Given the description of an element on the screen output the (x, y) to click on. 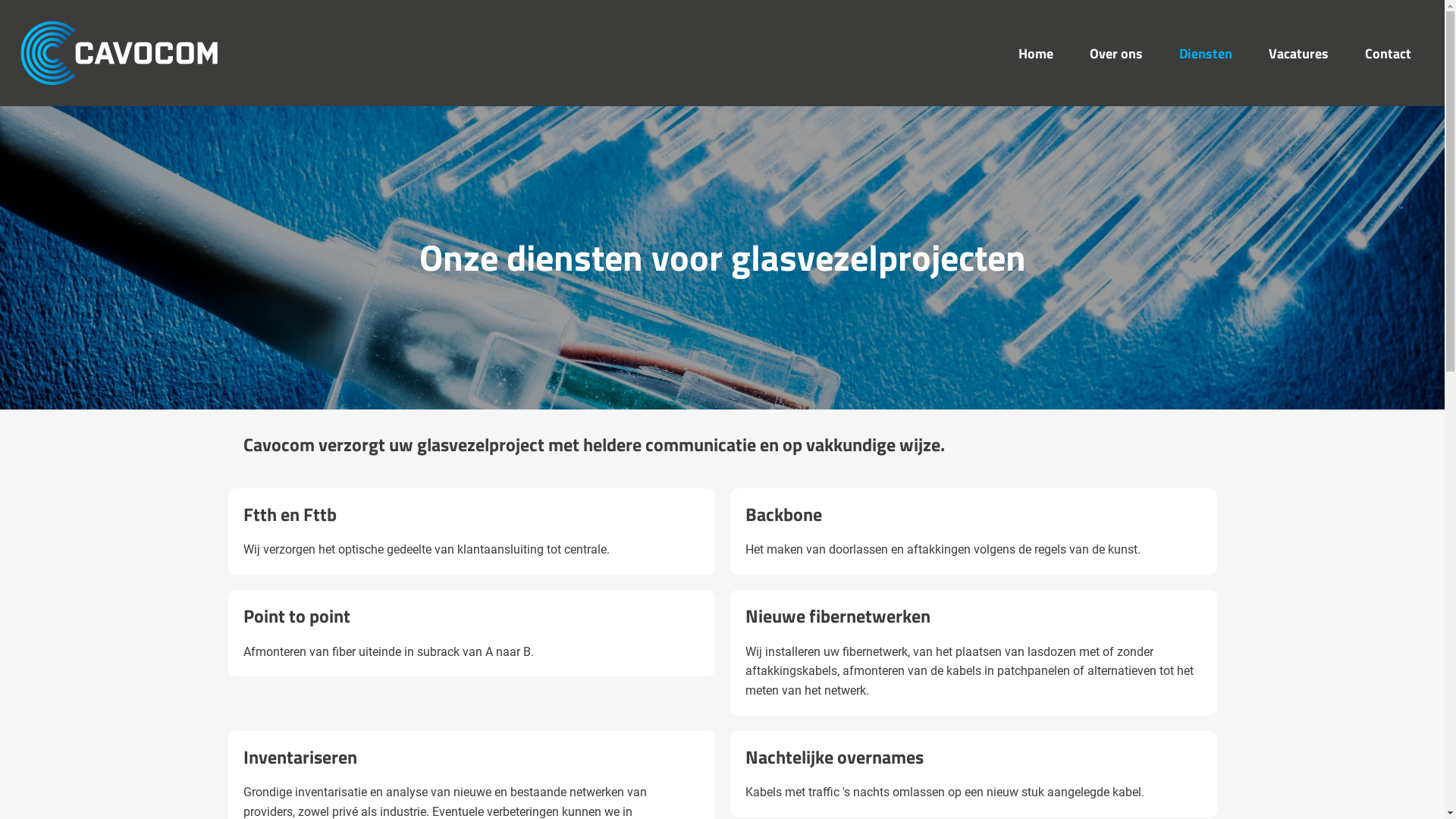
Point to point Element type: text (295, 615)
Home Element type: text (1035, 52)
Nieuwe fibernetwerken Element type: text (836, 615)
Vacatures Element type: text (1298, 52)
Backbone Element type: text (782, 513)
Diensten Element type: text (1205, 52)
Nachtelijke overnames Element type: text (833, 756)
Ftth en Fttb Element type: text (288, 513)
Inventariseren Element type: text (299, 756)
Contact Element type: text (1387, 52)
Cavocom Element type: hover (119, 52)
Over ons Element type: text (1116, 52)
